Given the description of an element on the screen output the (x, y) to click on. 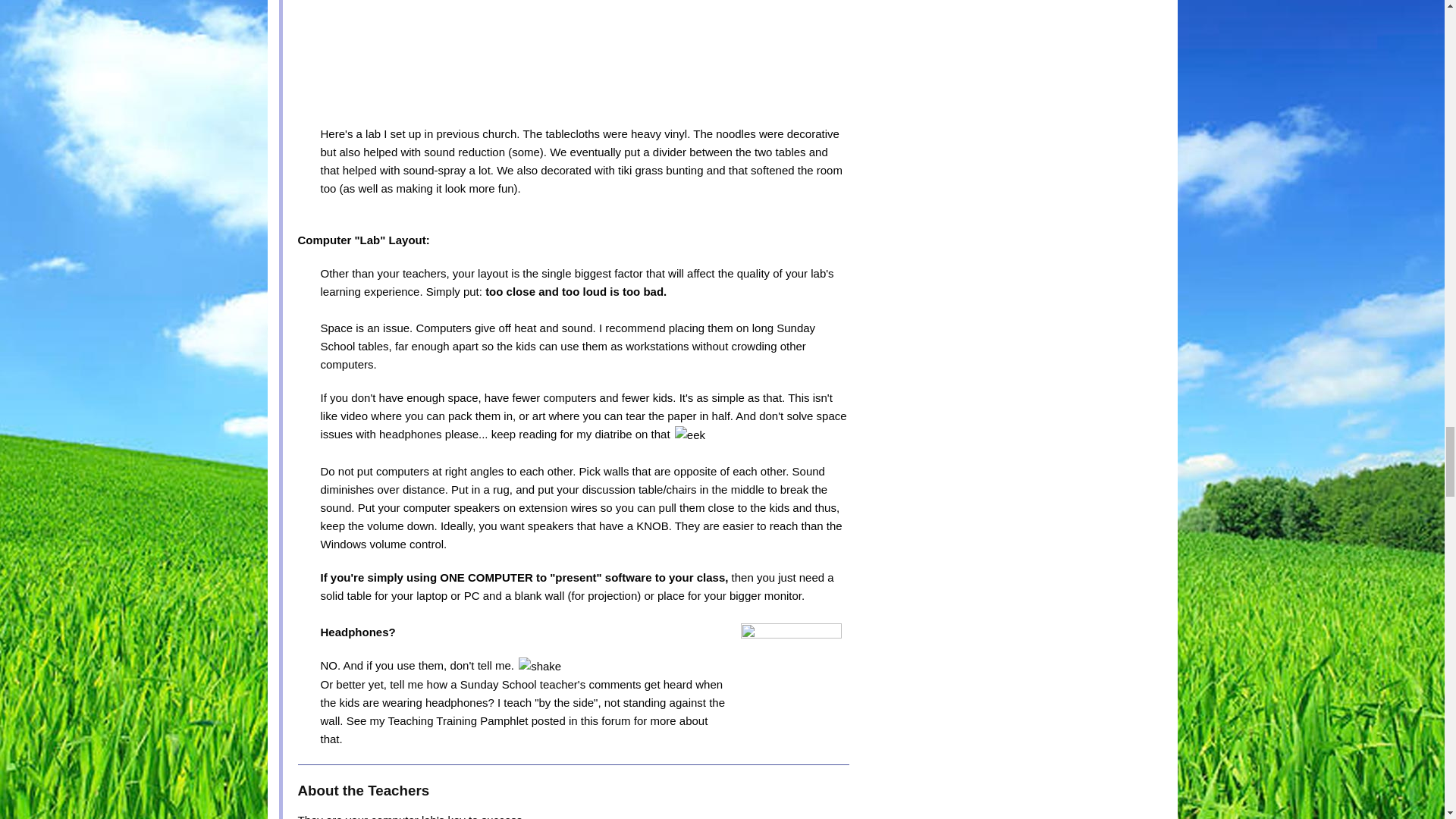
eek (689, 434)
shake (539, 666)
